Given the description of an element on the screen output the (x, y) to click on. 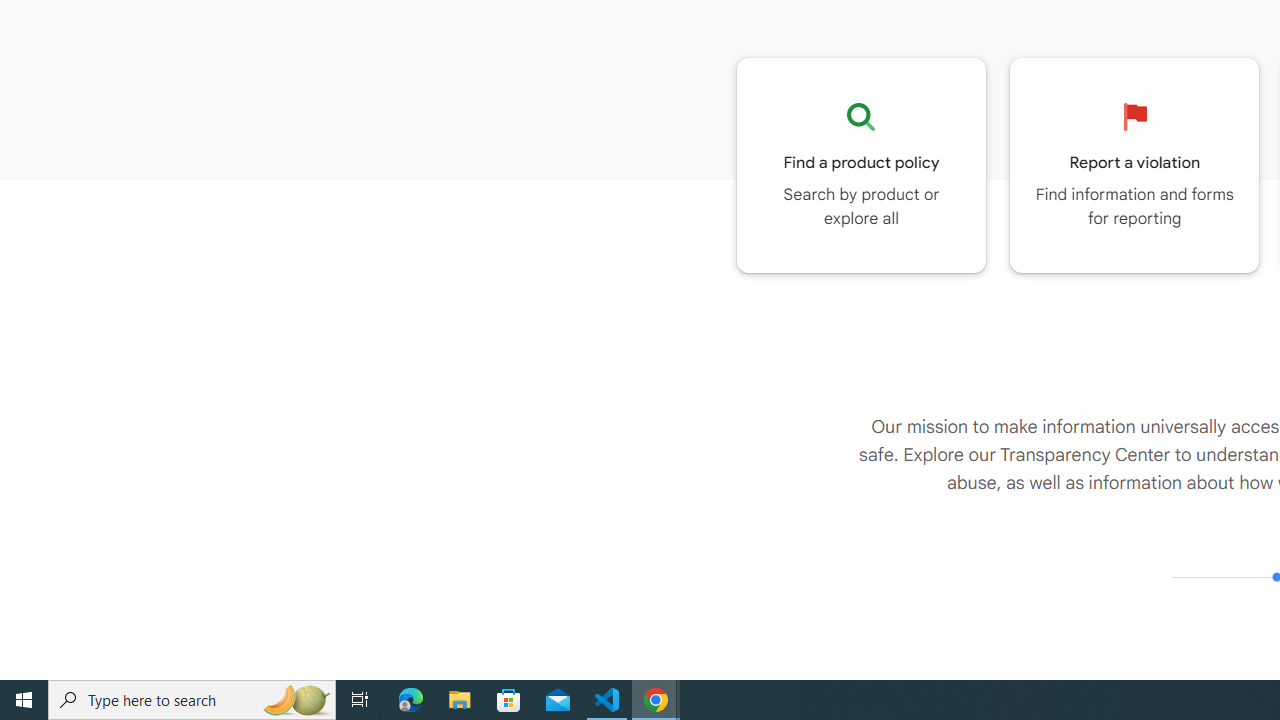
Go to the Product policy page (861, 165)
Go to the Reporting and appeals page (1134, 165)
